Given the description of an element on the screen output the (x, y) to click on. 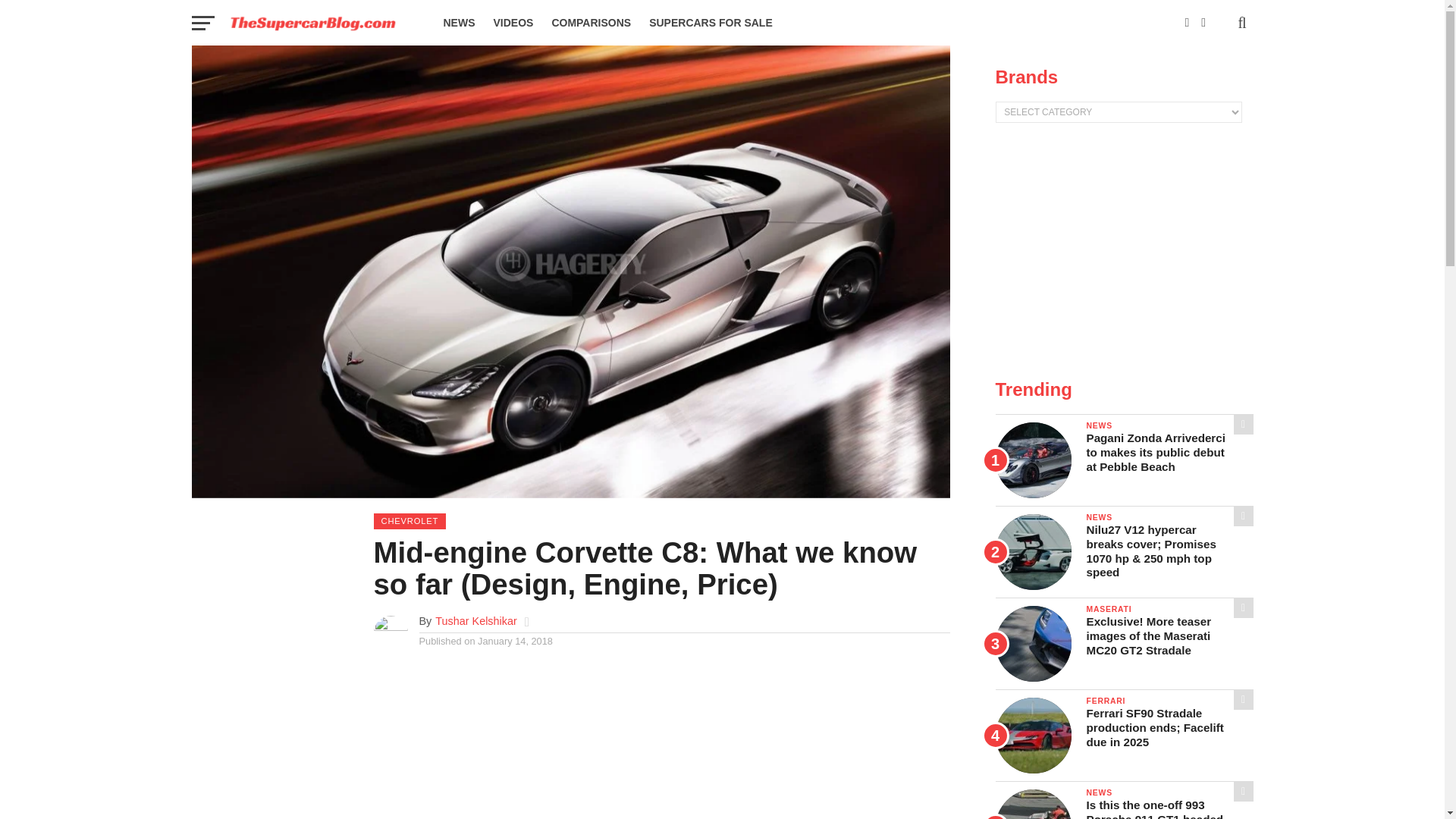
VIDEOS (512, 22)
Posts by Tushar Kelshikar (475, 621)
COMPARISONS (590, 22)
SUPERCARS FOR SALE (710, 22)
Tushar Kelshikar (475, 621)
NEWS (458, 22)
